Given the description of an element on the screen output the (x, y) to click on. 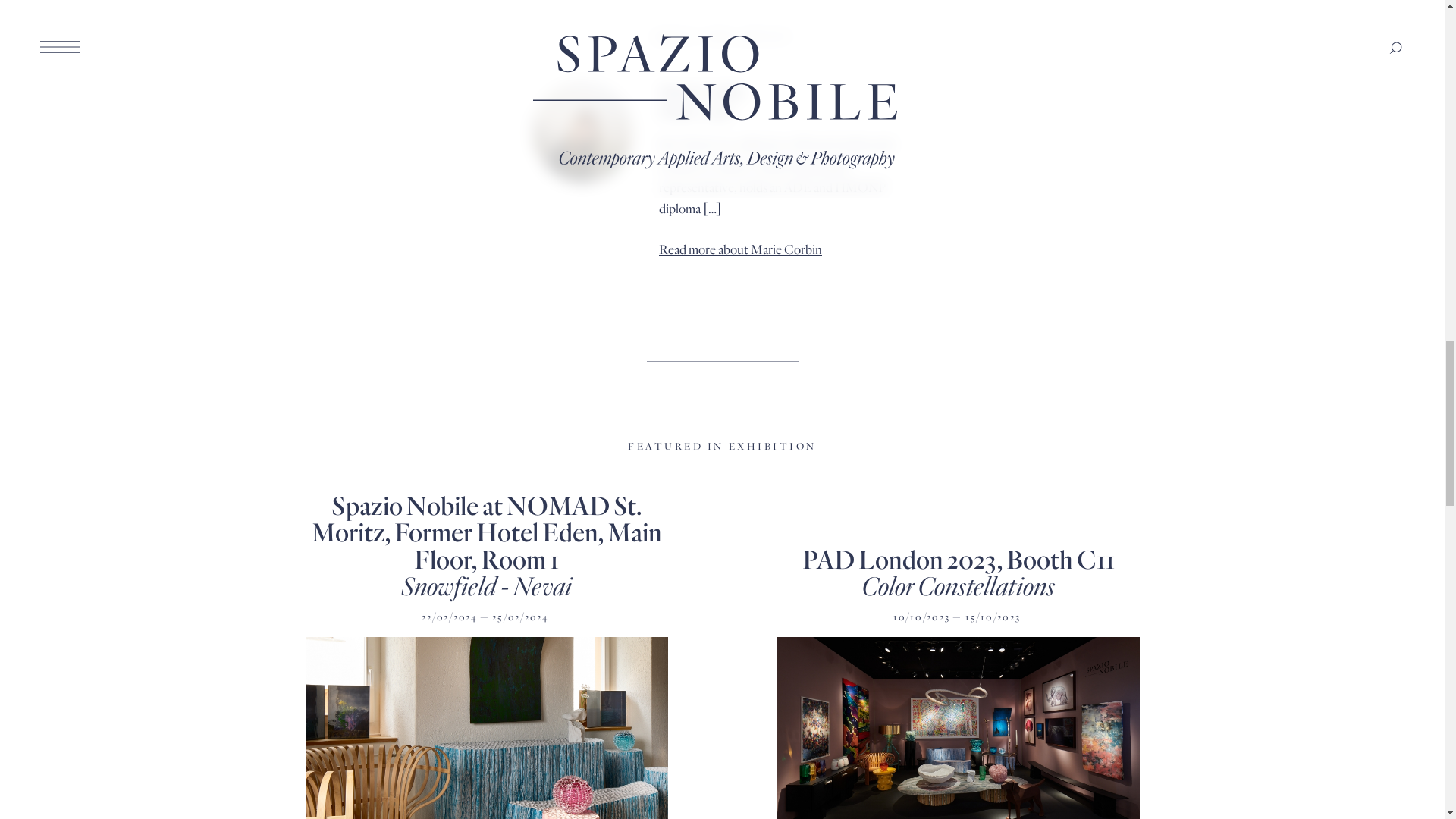
Read more about Marie Corbin (740, 248)
Snowfield - Nevai (486, 584)
Color Constellations (957, 584)
PAD London 2023, Booth C11 (958, 558)
